Given the description of an element on the screen output the (x, y) to click on. 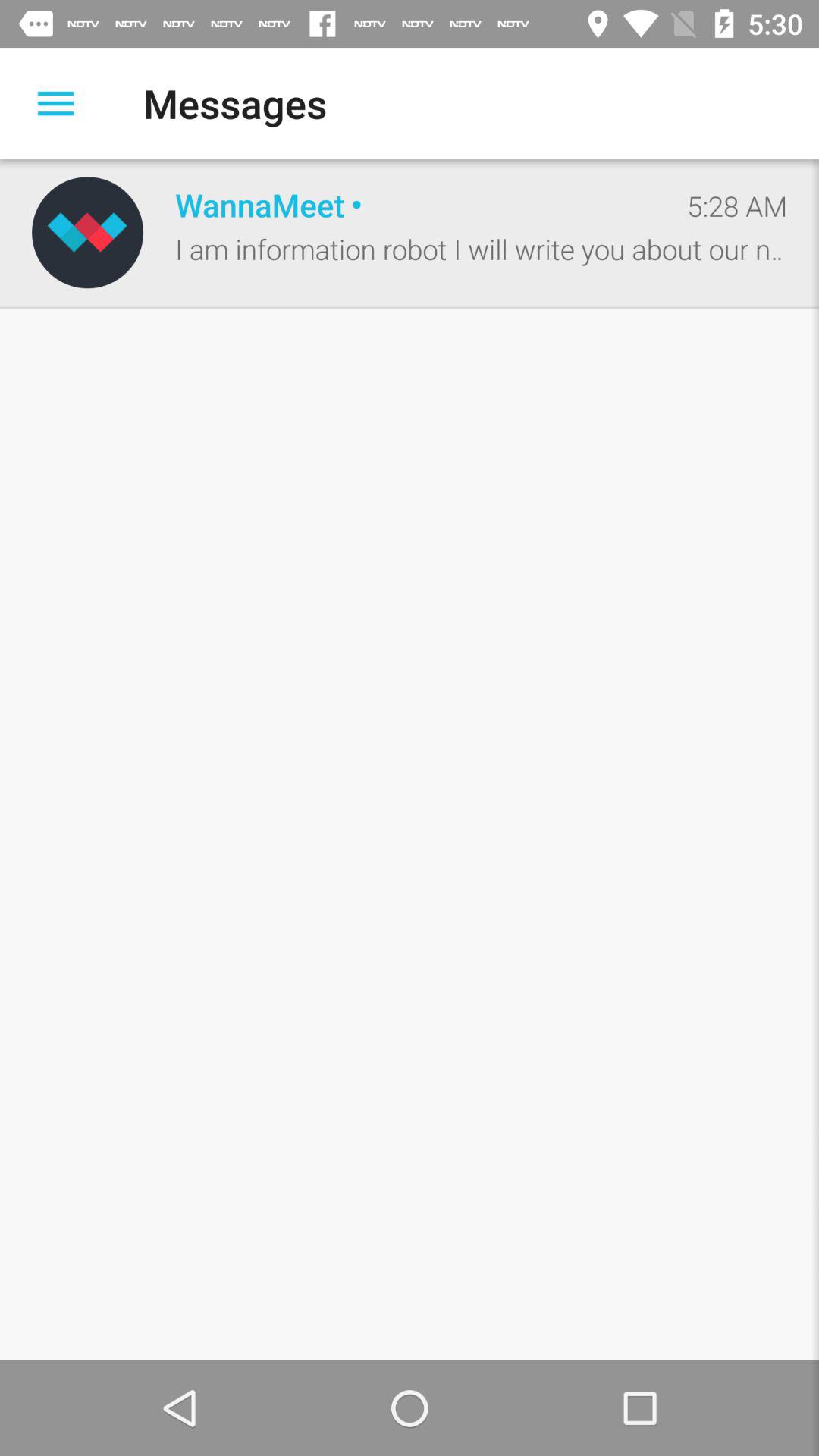
turn off icon to the left of messages item (55, 103)
